Given the description of an element on the screen output the (x, y) to click on. 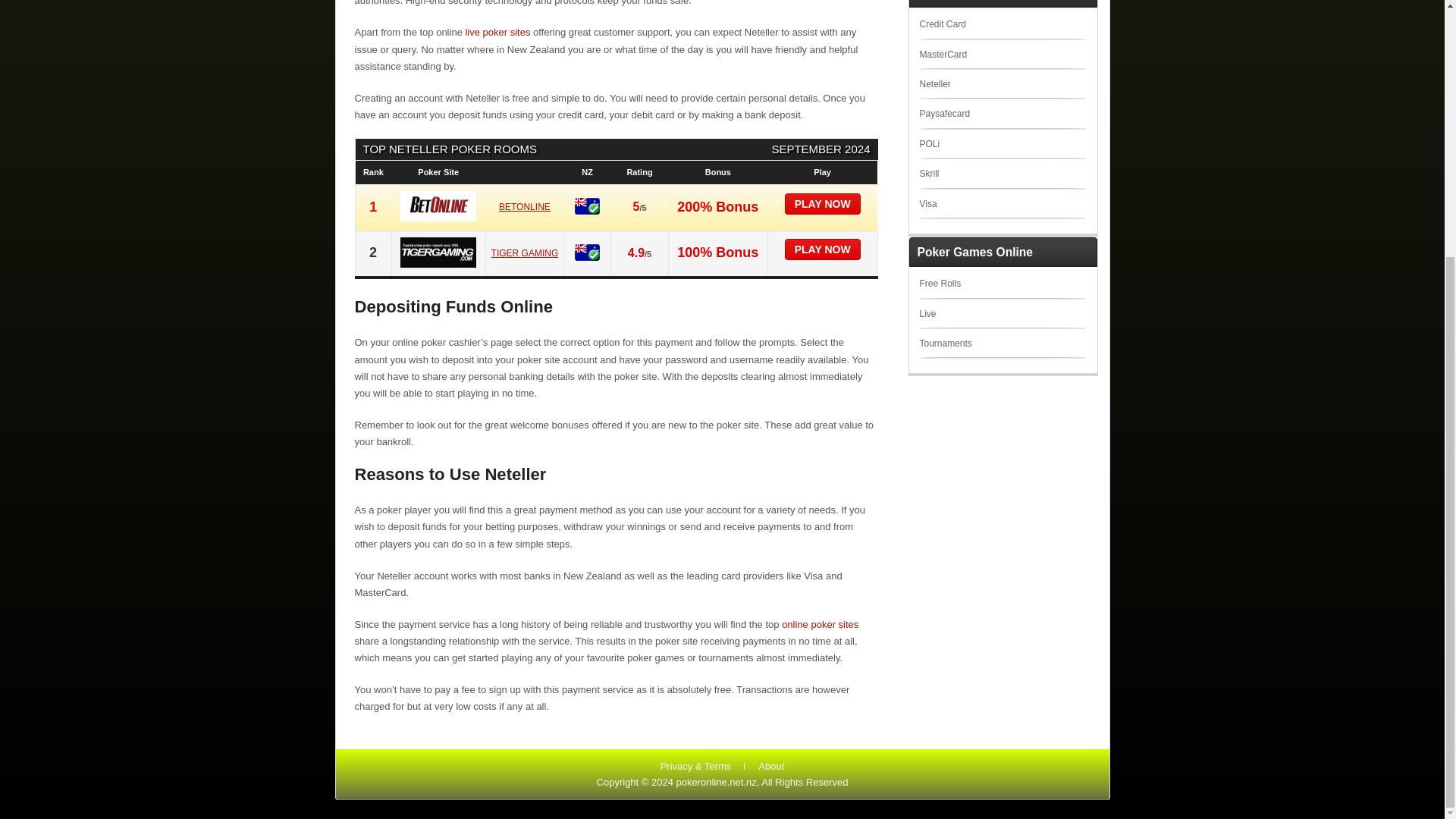
Credit Card (941, 23)
Free Rolls (939, 283)
PLAY NOW (822, 203)
live poker sites (496, 31)
Neteller (934, 83)
Paysafecard (943, 113)
Live (927, 313)
POLi (928, 143)
PLAY NOW (822, 249)
online poker sites (820, 624)
